Given the description of an element on the screen output the (x, y) to click on. 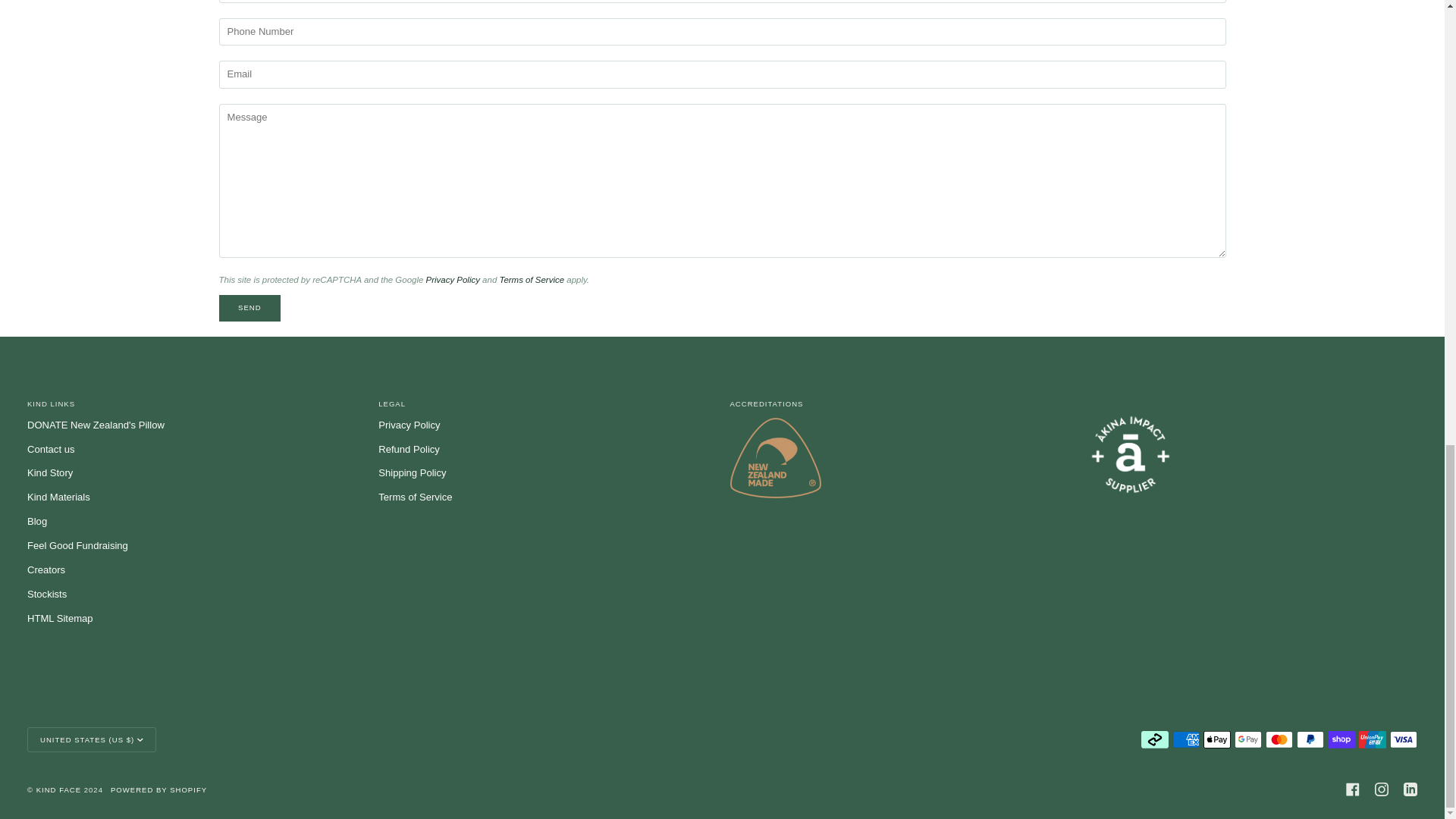
PAYPAL (1310, 739)
SHOP PAY (1341, 739)
MASTERCARD (1278, 739)
VISA (1403, 739)
AMERICAN EXPRESS (1185, 739)
APPLE PAY (1217, 739)
AFTERPAY (1155, 739)
UNION PAY (1372, 739)
GOOGLE PAY (1248, 739)
